Given the description of an element on the screen output the (x, y) to click on. 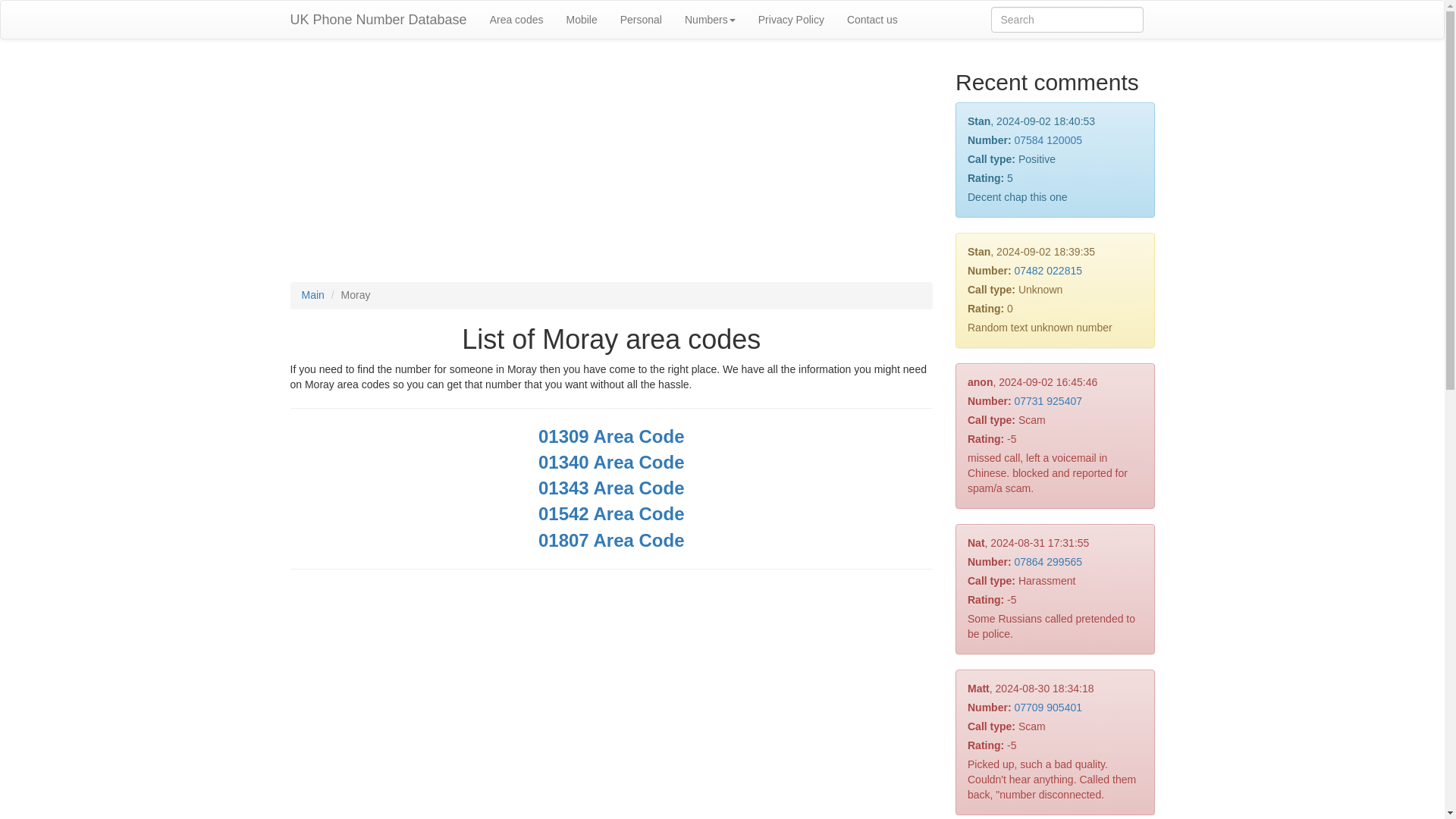
07864 299565 (1047, 562)
Recent comments (1046, 82)
07731 925407 (1047, 400)
Personal (640, 19)
Area codes (516, 19)
07482 022815 (1047, 270)
01807 Area Code (611, 542)
Mobile (581, 19)
07864 299565 (1047, 562)
